Given the description of an element on the screen output the (x, y) to click on. 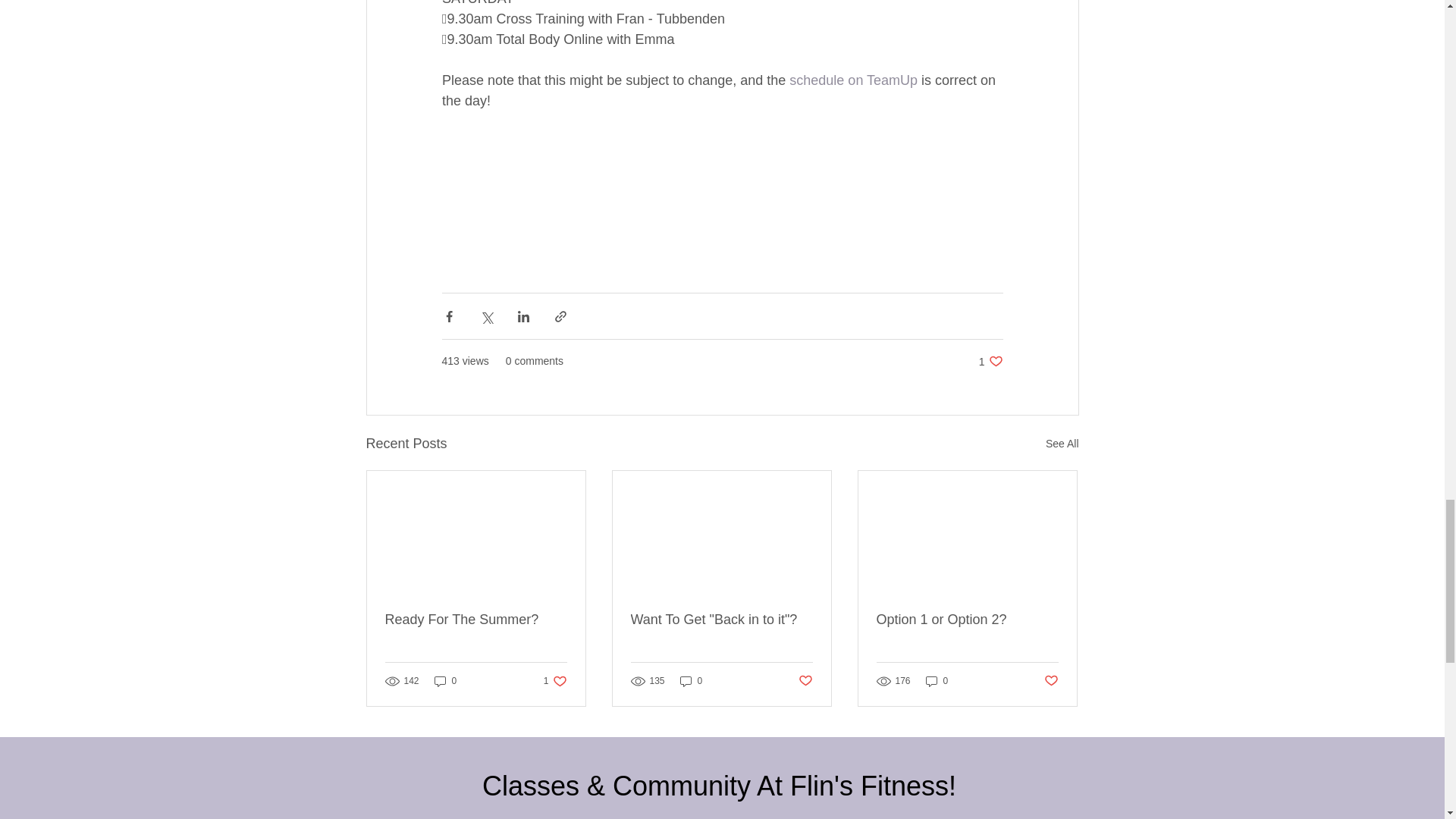
schedule on TeamUp (853, 79)
See All (1061, 444)
